Given the description of an element on the screen output the (x, y) to click on. 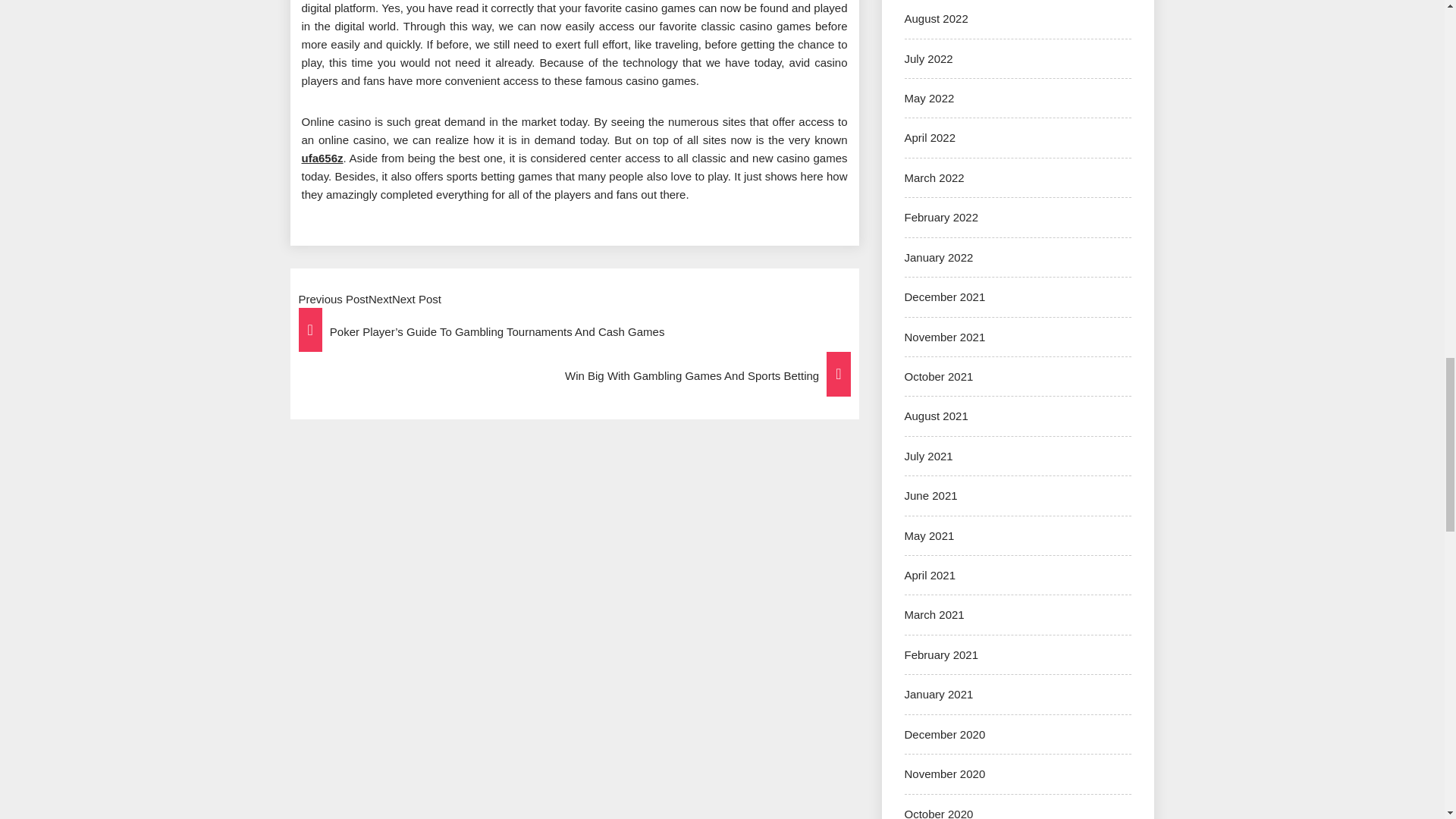
July 2022 (928, 58)
May 2022 (928, 97)
August 2022 (936, 18)
ufa656z (322, 157)
